Given the description of an element on the screen output the (x, y) to click on. 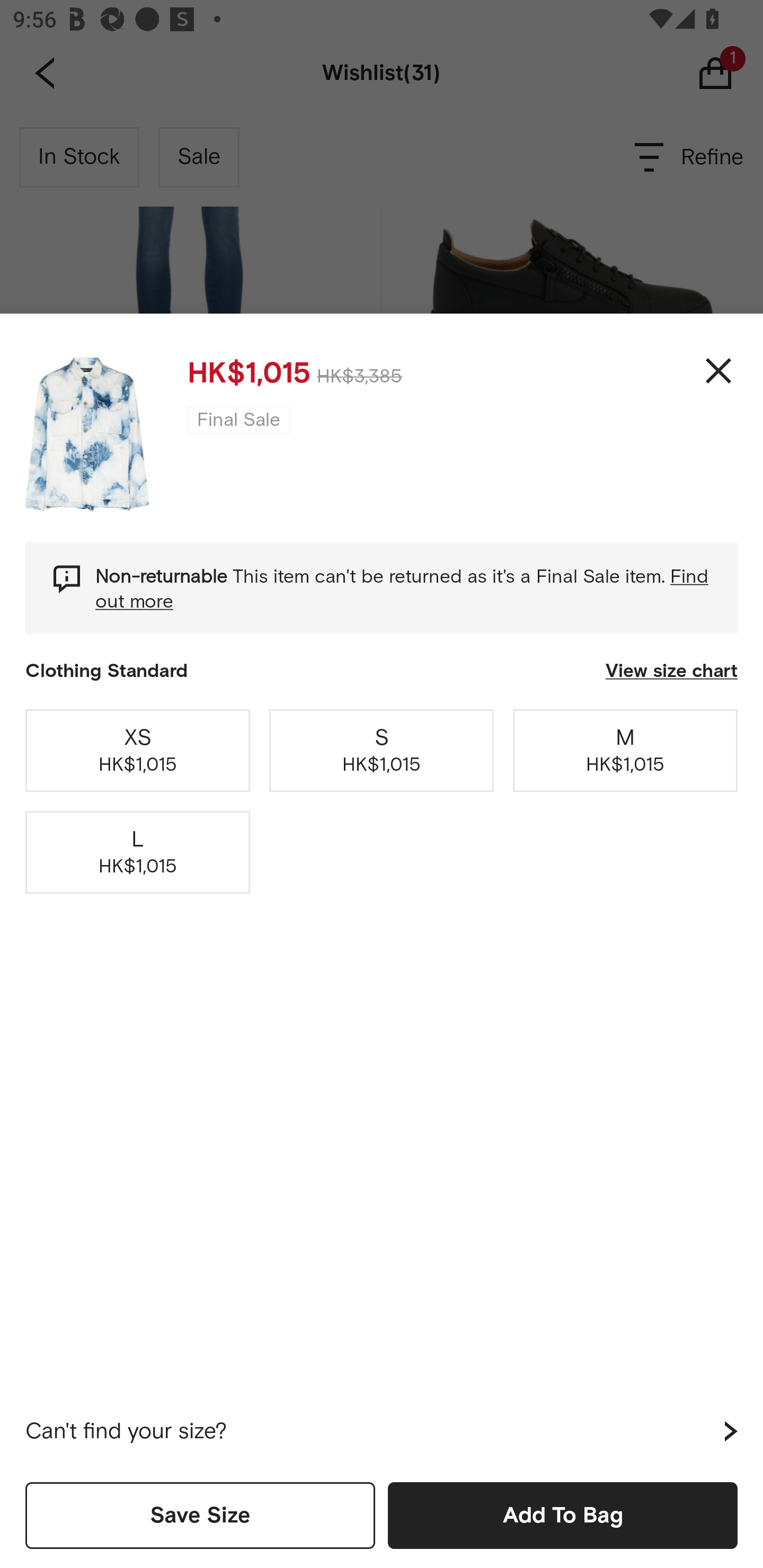
XS HK$1,015 (137, 749)
S HK$1,015 (381, 749)
M HK$1,015 (624, 749)
L HK$1,015 (137, 851)
Can't find your size? (381, 1431)
Save Size (200, 1515)
Add To Bag (562, 1515)
